Given the description of an element on the screen output the (x, y) to click on. 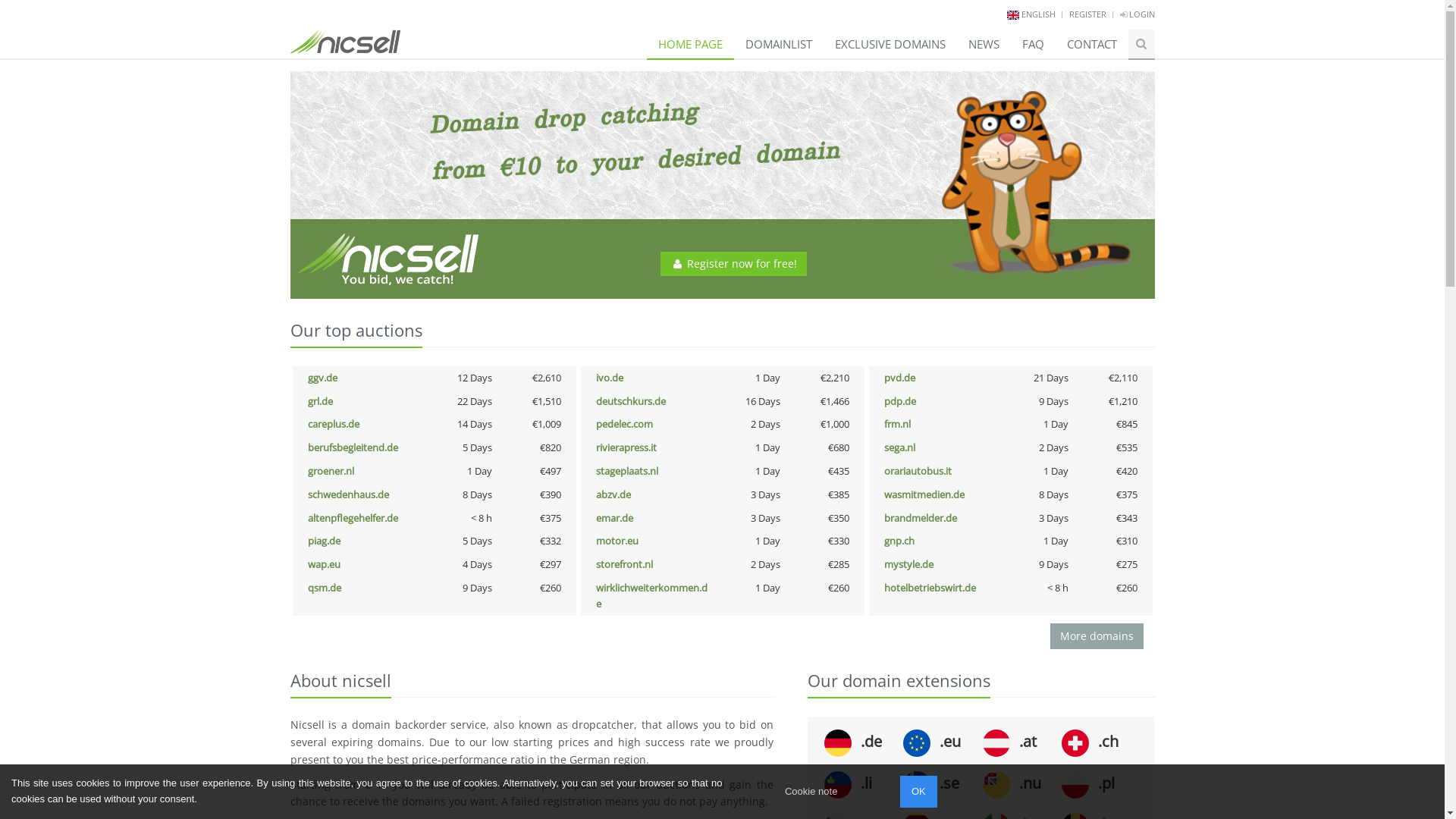
altenpflegehelfer.de Element type: text (352, 517)
hotelbetriebswirt.de Element type: text (929, 587)
pvd.de Element type: text (899, 377)
FAQ Element type: text (1032, 44)
EXCLUSIVE DOMAINS Element type: text (890, 44)
brandmelder.de Element type: text (920, 517)
abzv.de Element type: text (613, 494)
pedelec.com Element type: text (624, 423)
CONTACT Element type: text (1091, 44)
wasmitmedien.de Element type: text (924, 494)
berufsbegleitend.de Element type: text (352, 447)
qsm.de Element type: text (324, 587)
careplus.de Element type: text (333, 423)
pdp.de Element type: text (900, 400)
emar.de Element type: text (614, 517)
More domains Element type: text (1095, 636)
wirklichweiterkommen.de Element type: text (651, 595)
LOGIN Element type: text (1136, 13)
deutschkurs.de Element type: text (630, 400)
wap.eu Element type: text (323, 564)
Cookie note Element type: text (810, 792)
groener.nl Element type: text (330, 470)
ENGLISH Element type: text (1037, 13)
storefront.nl Element type: text (624, 564)
DOMAINLIST Element type: text (778, 44)
piag.de Element type: text (323, 540)
Register now for free! Element type: text (733, 263)
grl.de Element type: text (319, 400)
ivo.de Element type: text (609, 377)
stageplaats.nl Element type: text (627, 470)
sega.nl Element type: text (899, 447)
motor.eu Element type: text (617, 540)
NEWS Element type: text (983, 44)
orariautobus.it Element type: text (917, 470)
rivierapress.it Element type: text (626, 447)
gnp.ch Element type: text (899, 540)
nicsell Banner Element type: hover (721, 184)
schwedenhaus.de Element type: text (348, 494)
REGISTER Element type: text (1087, 13)
Home Element type: hover (344, 36)
HOME PAGE Element type: text (689, 44)
frm.nl Element type: text (897, 423)
ggv.de Element type: text (322, 377)
mystyle.de Element type: text (908, 564)
